Given the description of an element on the screen output the (x, y) to click on. 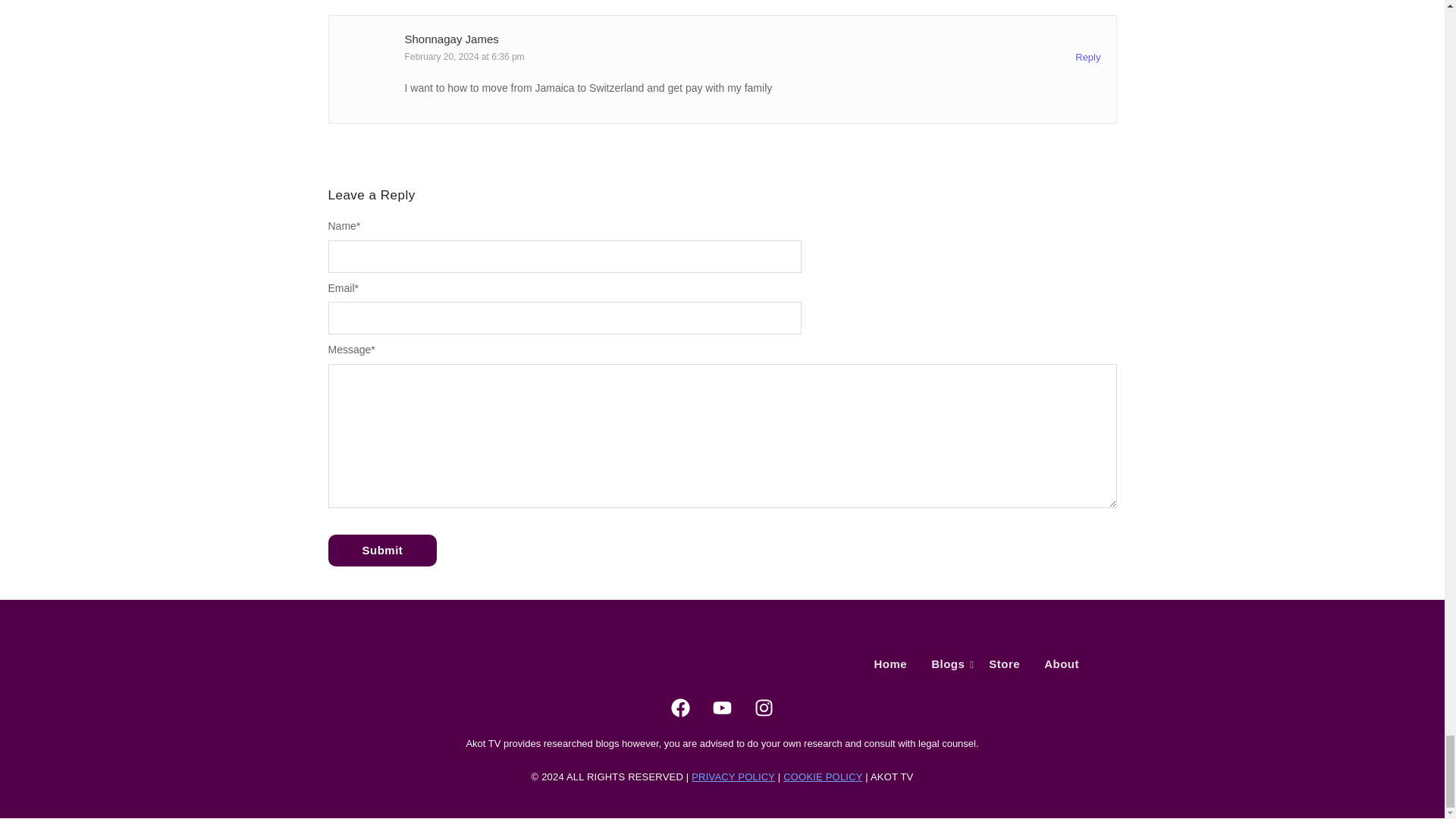
Submit (381, 550)
